Given the description of an element on the screen output the (x, y) to click on. 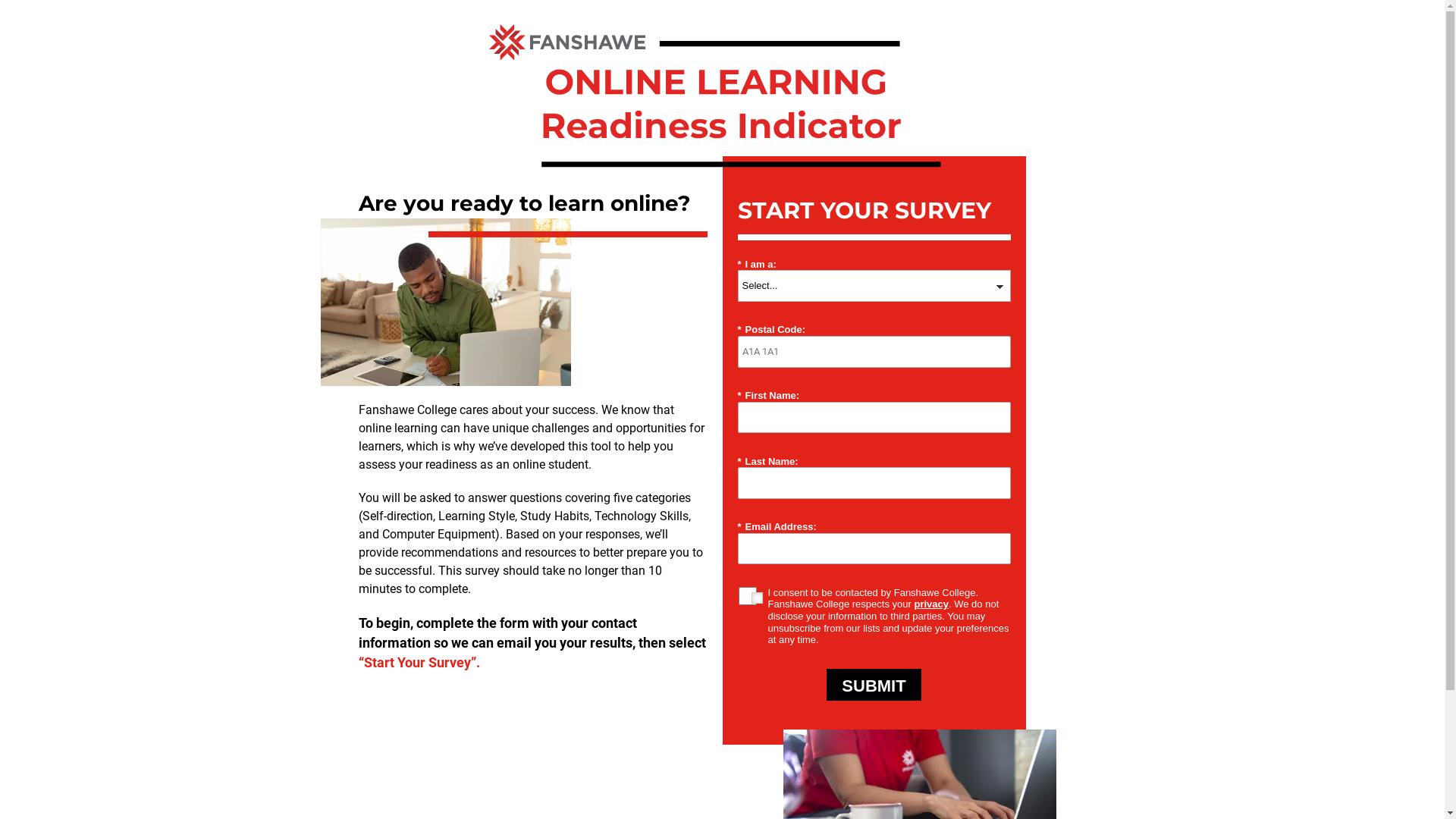
privacy Element type: text (930, 603)
SUBMIT Element type: text (873, 684)
